Given the description of an element on the screen output the (x, y) to click on. 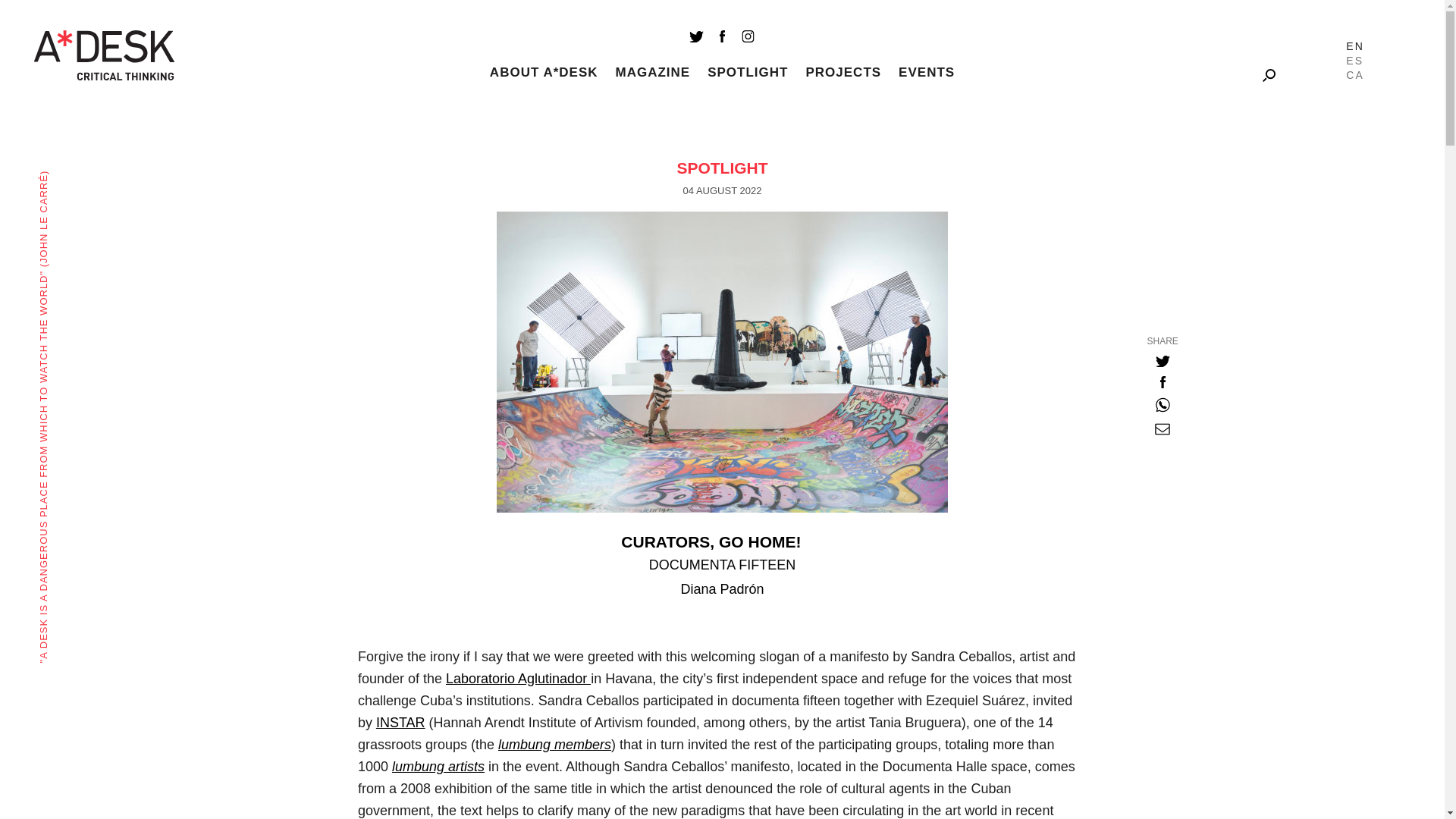
PROJECTS (842, 72)
SPOTLIGHT (747, 72)
CA (1353, 74)
EN (1353, 46)
A-desk (103, 55)
lumbung members (554, 744)
lumbung artists (437, 766)
INSTAR (400, 722)
EVENTS (926, 72)
ES (1353, 60)
MAGAZINE (652, 72)
Laboratorio Aglutinador (518, 678)
